Given the description of an element on the screen output the (x, y) to click on. 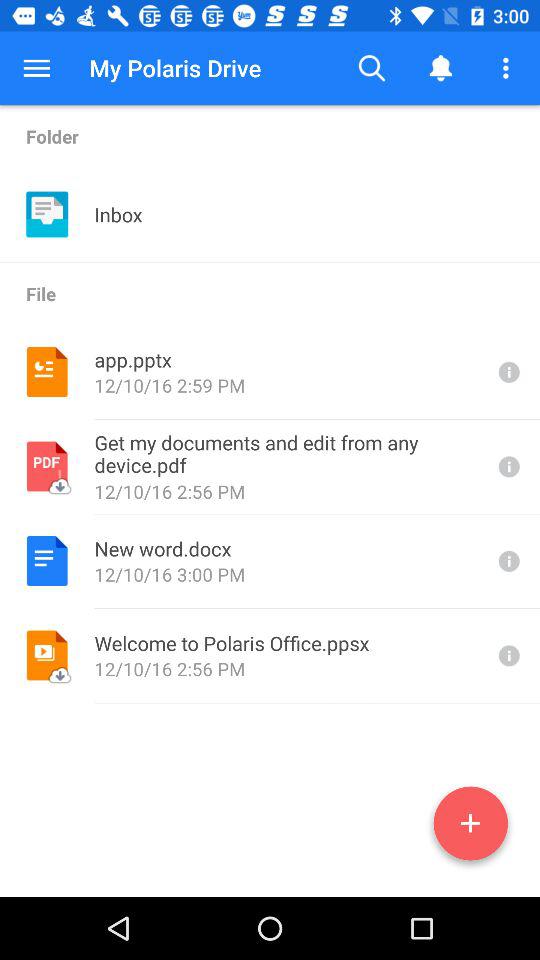
view file details (507, 371)
